Given the description of an element on the screen output the (x, y) to click on. 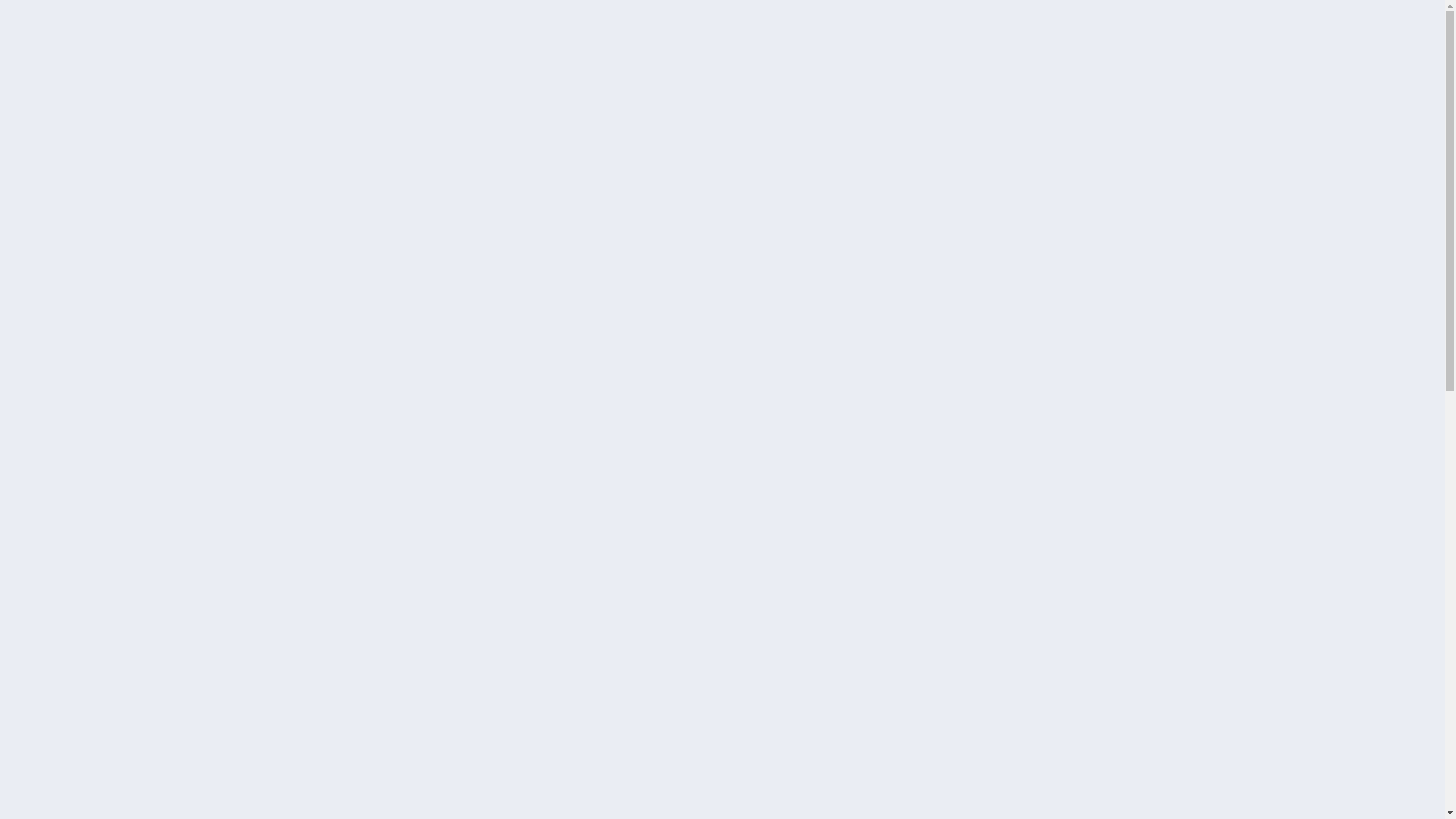
Rechercher Element type: text (996, 361)
Skip to content Element type: text (0, 0)
